Given the description of an element on the screen output the (x, y) to click on. 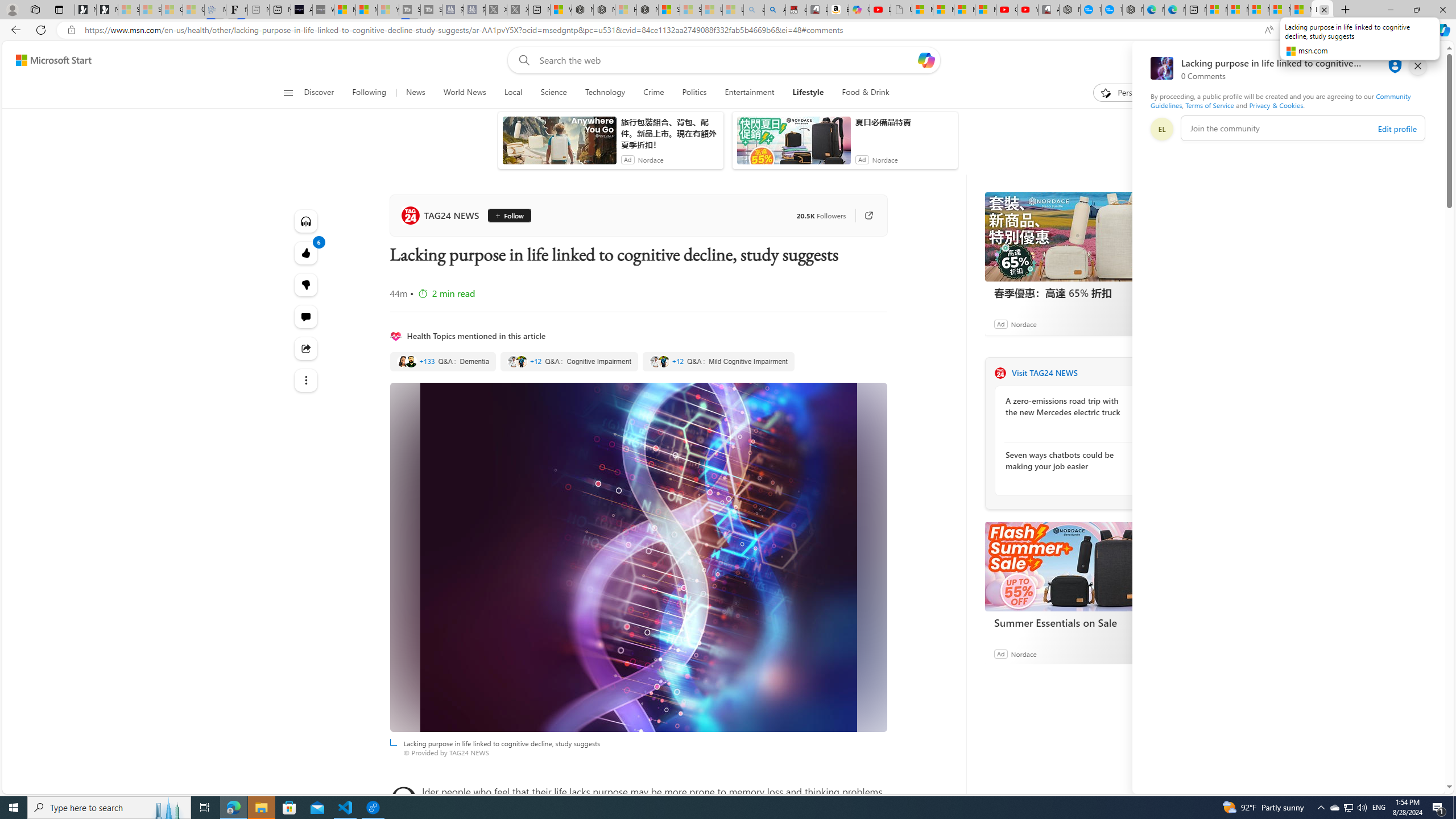
Science (553, 92)
Profile Picture (1161, 128)
Technology (604, 92)
6 Like (305, 252)
Share this story (305, 348)
Seven ways chatbots could be making your job easier (1066, 459)
